Given the description of an element on the screen output the (x, y) to click on. 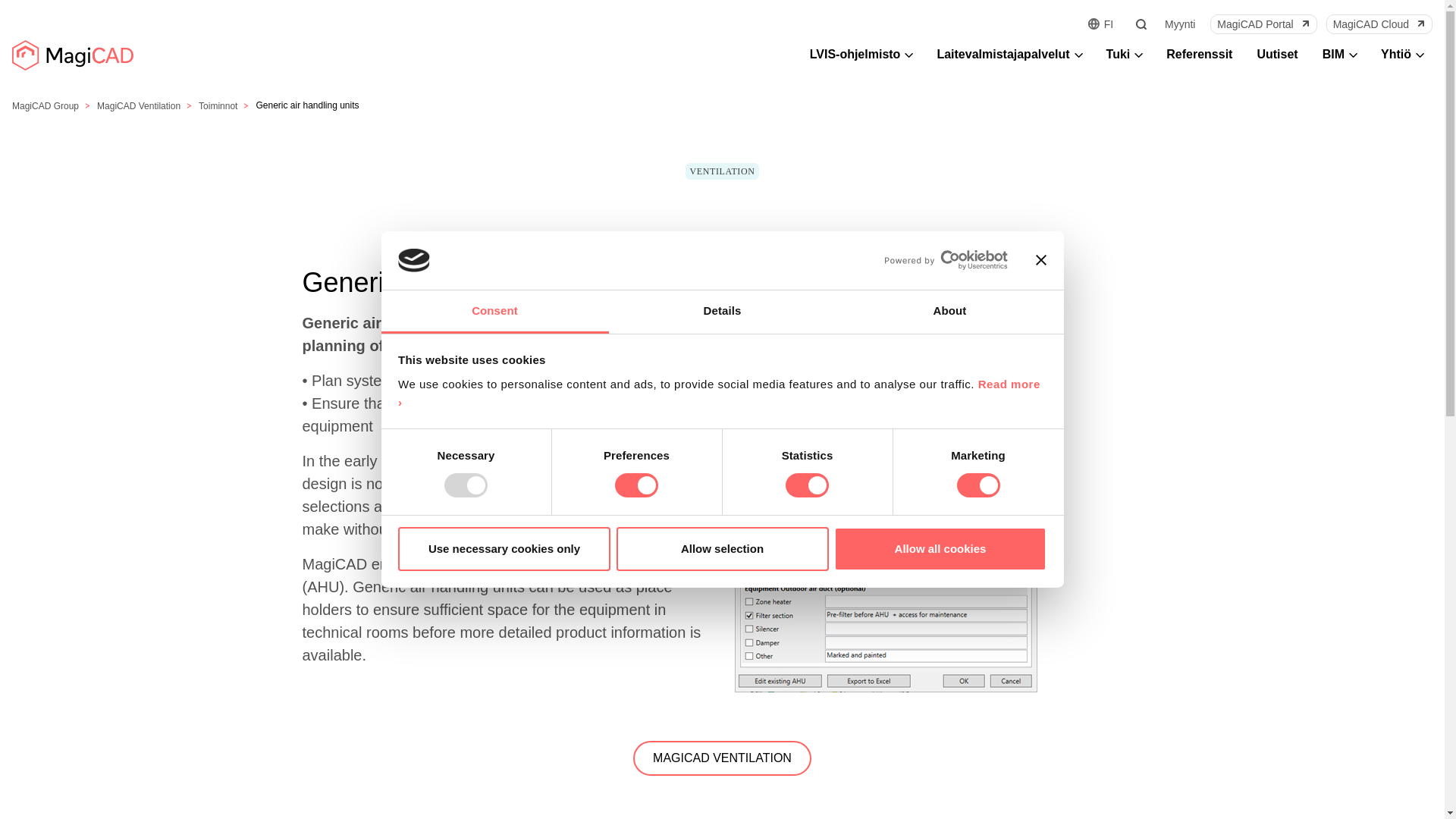
Consent (494, 311)
About (948, 311)
Details (721, 311)
